Given the description of an element on the screen output the (x, y) to click on. 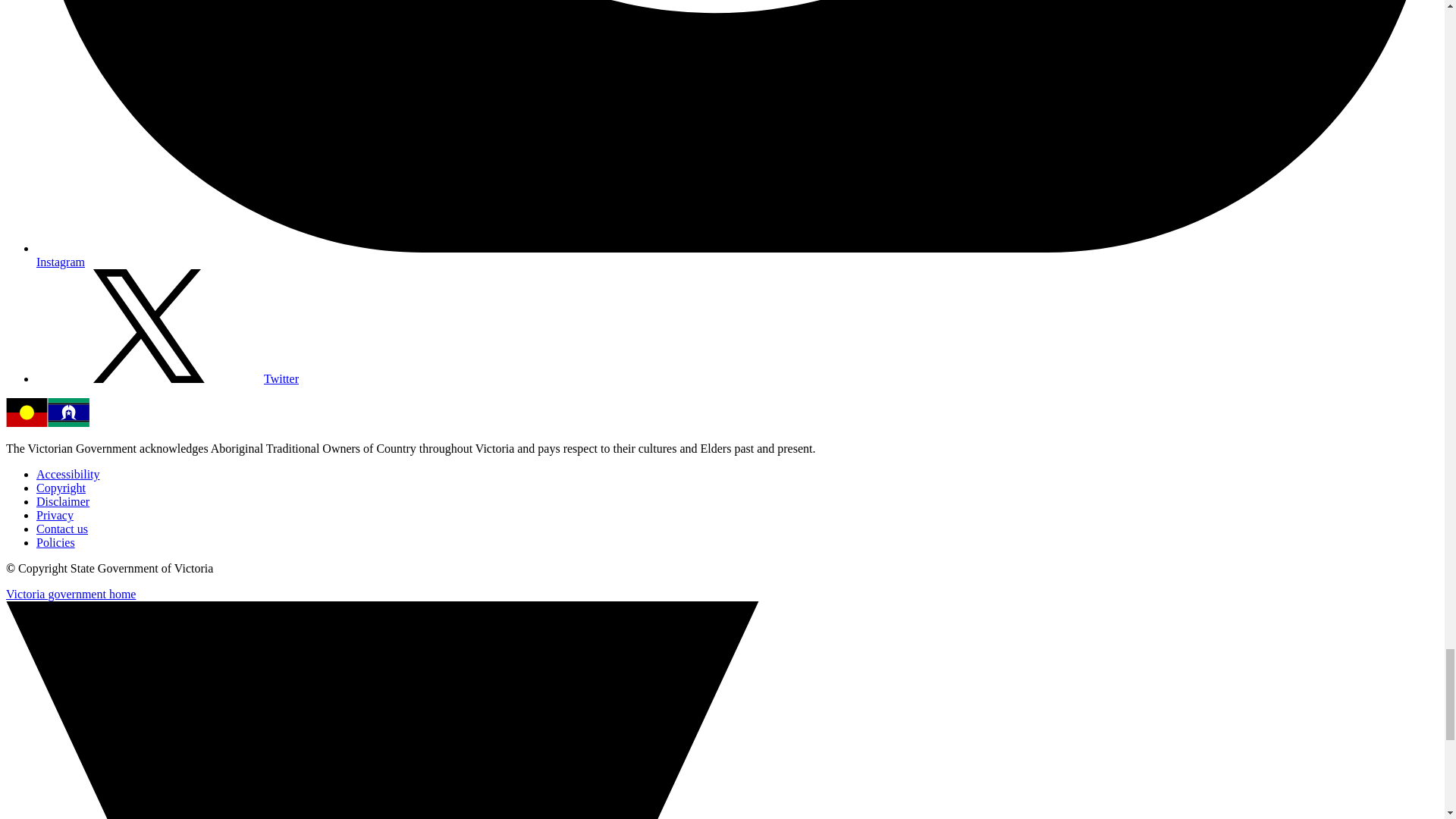
Copyright (60, 487)
Contact us (61, 528)
Privacy (55, 514)
Twitter (167, 378)
Accessibility (68, 473)
Policies (55, 542)
Disclaimer (62, 501)
